Given the description of an element on the screen output the (x, y) to click on. 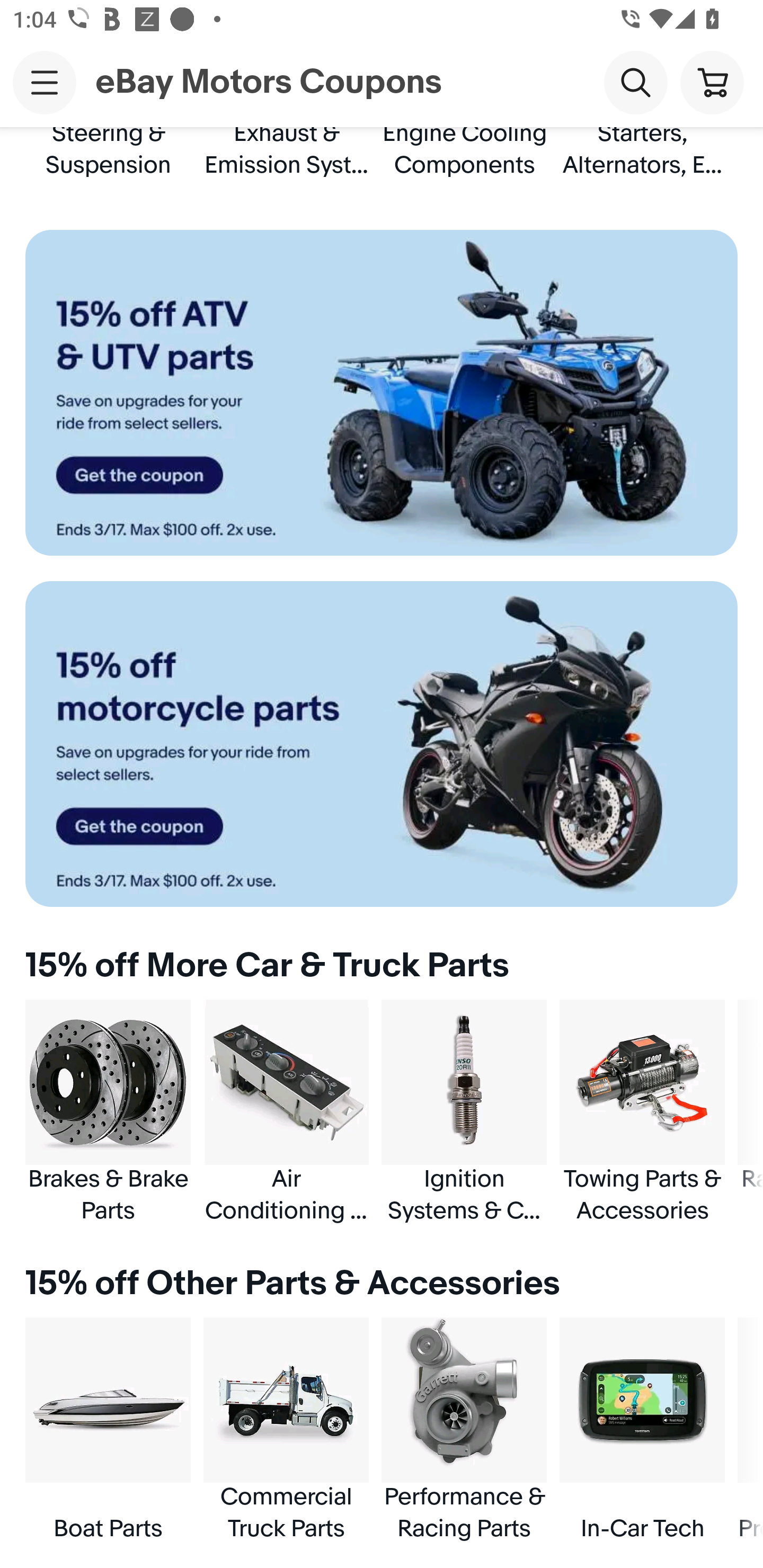
Main navigation, open (44, 82)
Search (635, 81)
Cart button shopping cart (711, 81)
Steering & Suspension (107, 152)
Exhaust & Emission Systems (285, 152)
Engine Cooling Components (464, 152)
Starters, Alternators, ECUs & Wiring (641, 152)
15% off atv and utv parts (381, 392)
15% off motorcycle parts (381, 743)
Brakes & Brake Parts (107, 1112)
Air Conditioning & Heating (285, 1112)
Ignition Systems & Components (464, 1112)
Towing Parts & Accessories (641, 1112)
Boat Parts (107, 1429)
Commercial Truck Parts (285, 1429)
Performance & Racing Parts (464, 1429)
In-Car Tech (641, 1429)
